Given the description of an element on the screen output the (x, y) to click on. 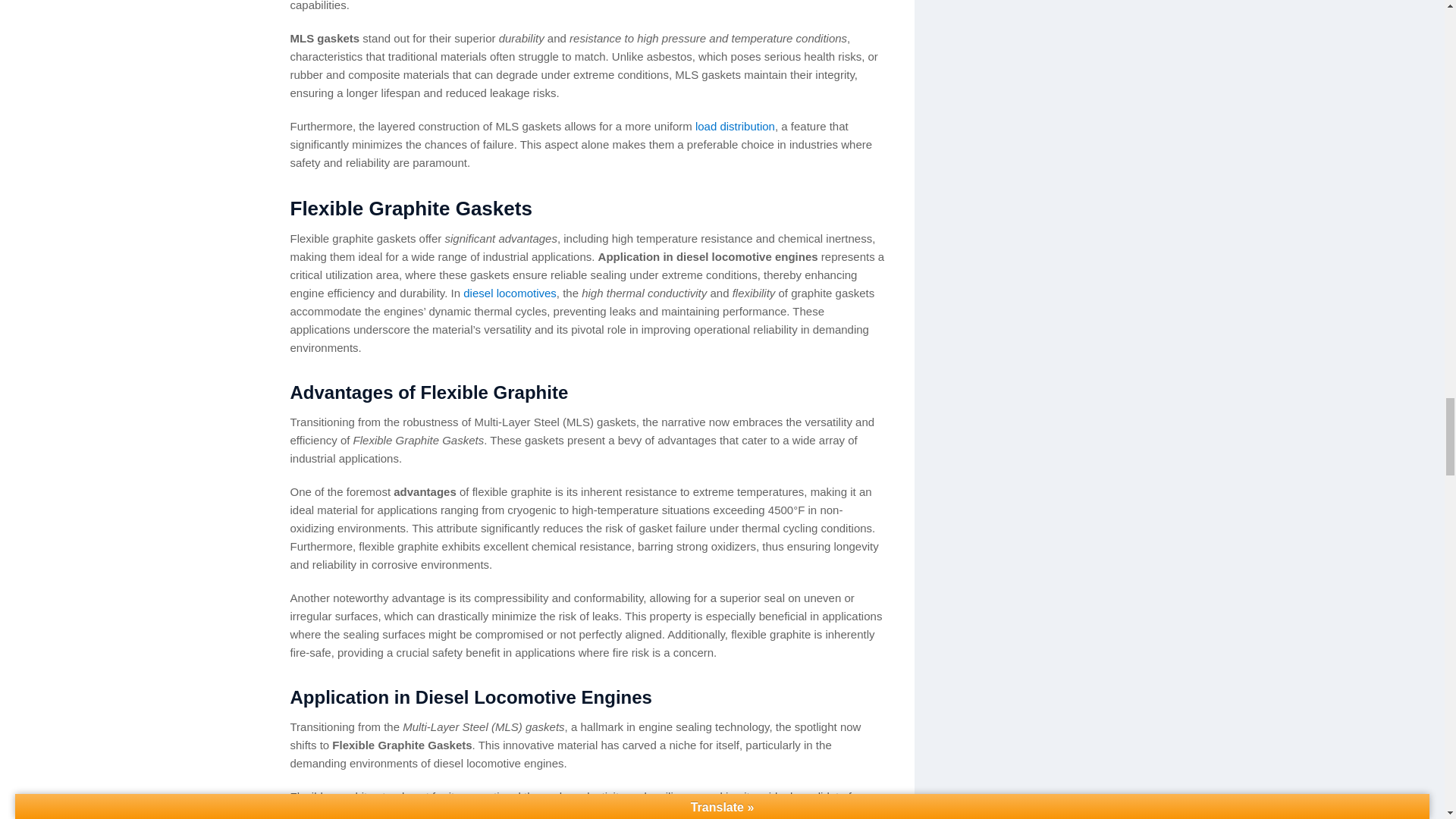
diesel locomotives (509, 292)
load distribution (734, 125)
